Given the description of an element on the screen output the (x, y) to click on. 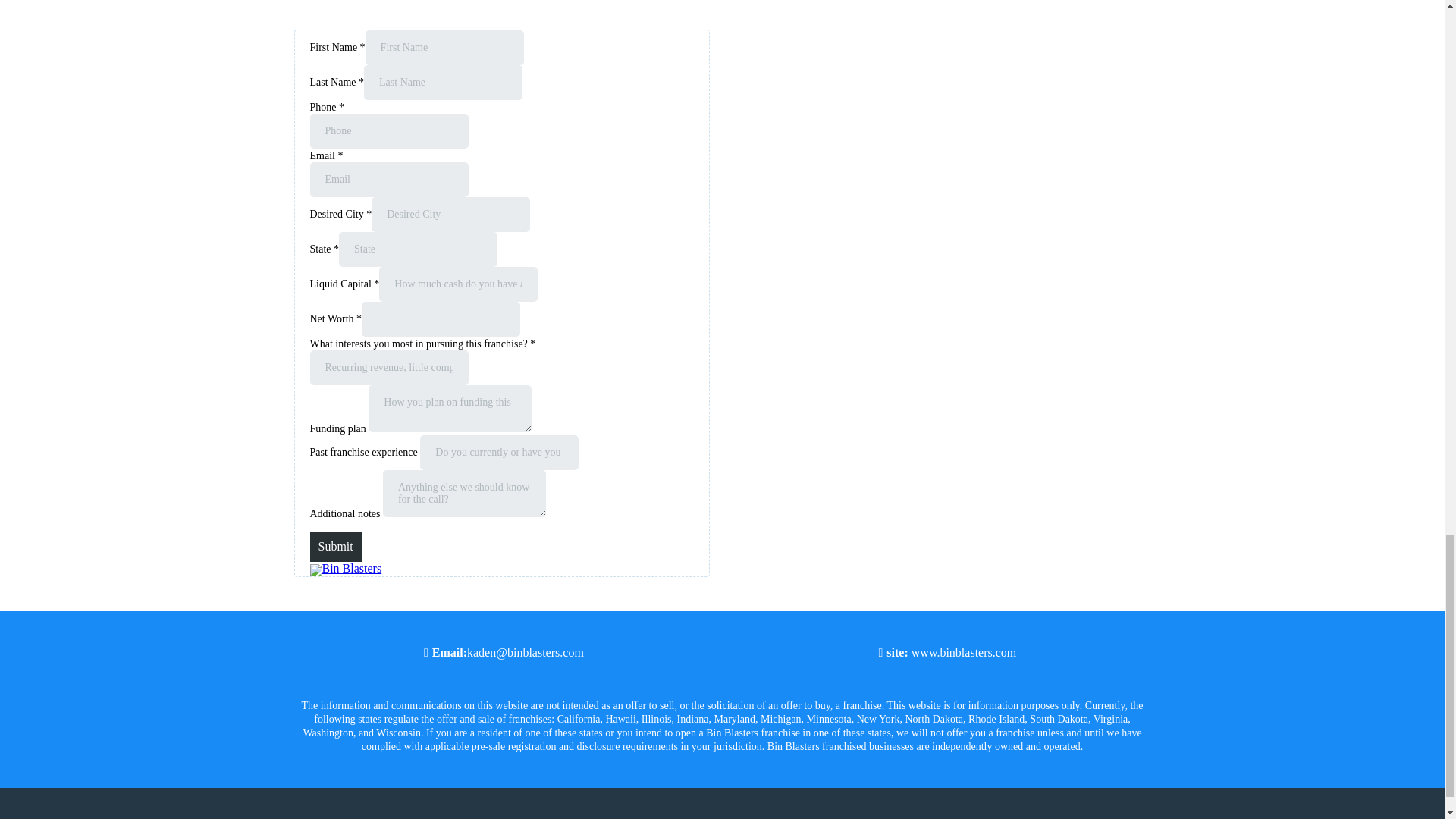
Submit (334, 546)
Bin Blasters (344, 567)
